Given the description of an element on the screen output the (x, y) to click on. 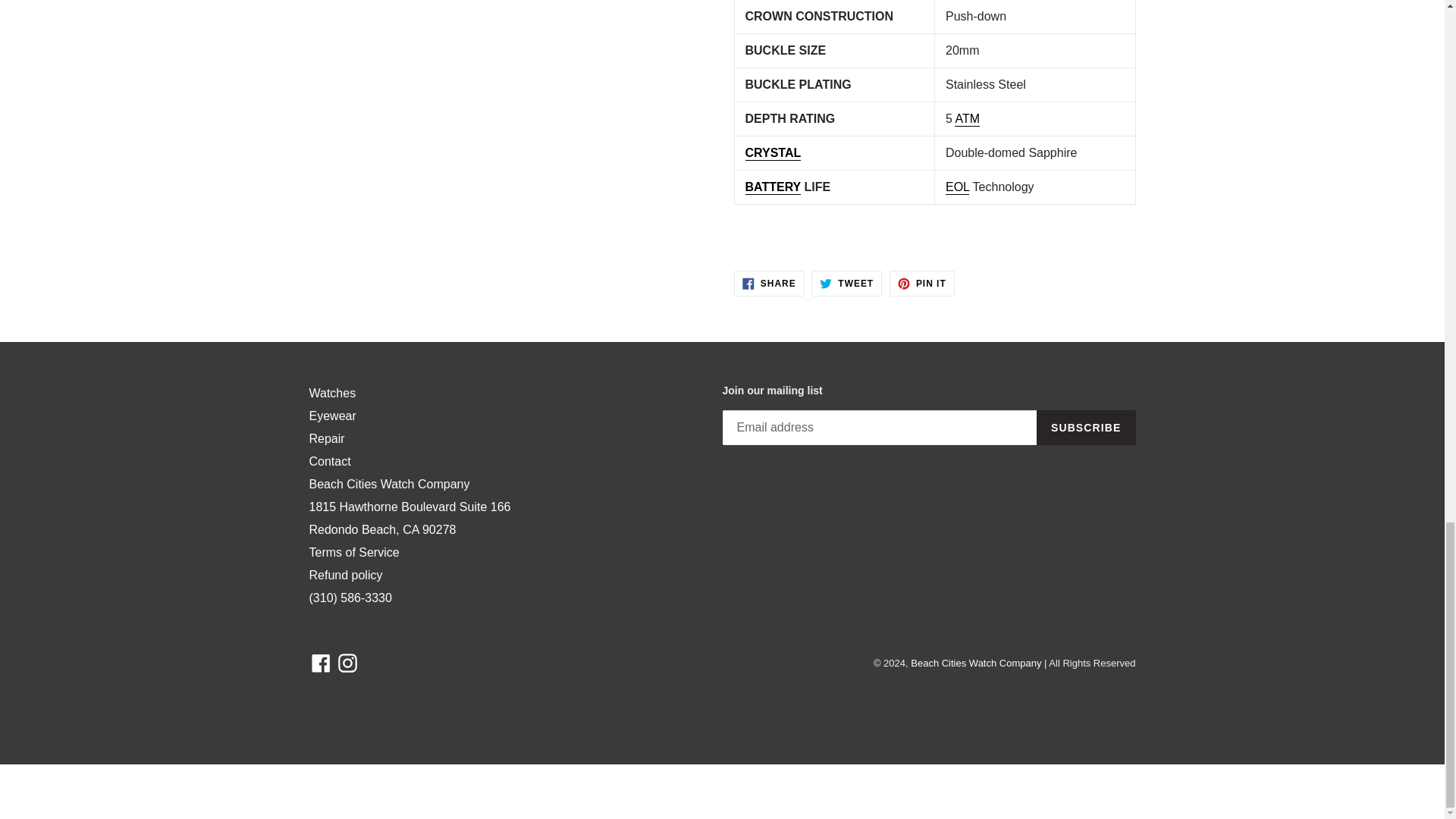
Tweet on Twitter (846, 283)
Share on Facebook (769, 283)
